Given the description of an element on the screen output the (x, y) to click on. 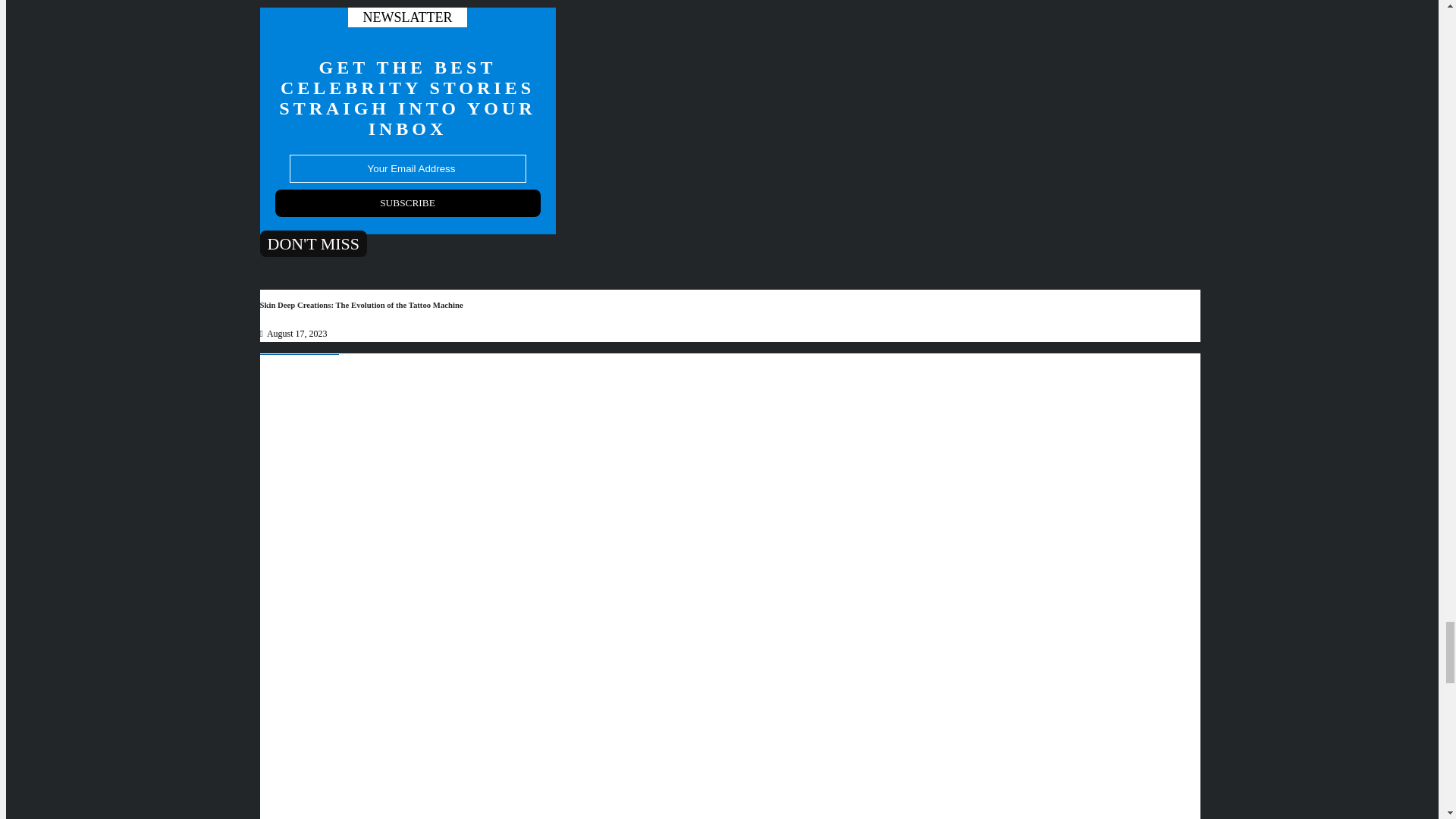
Subscribe (407, 203)
